Given the description of an element on the screen output the (x, y) to click on. 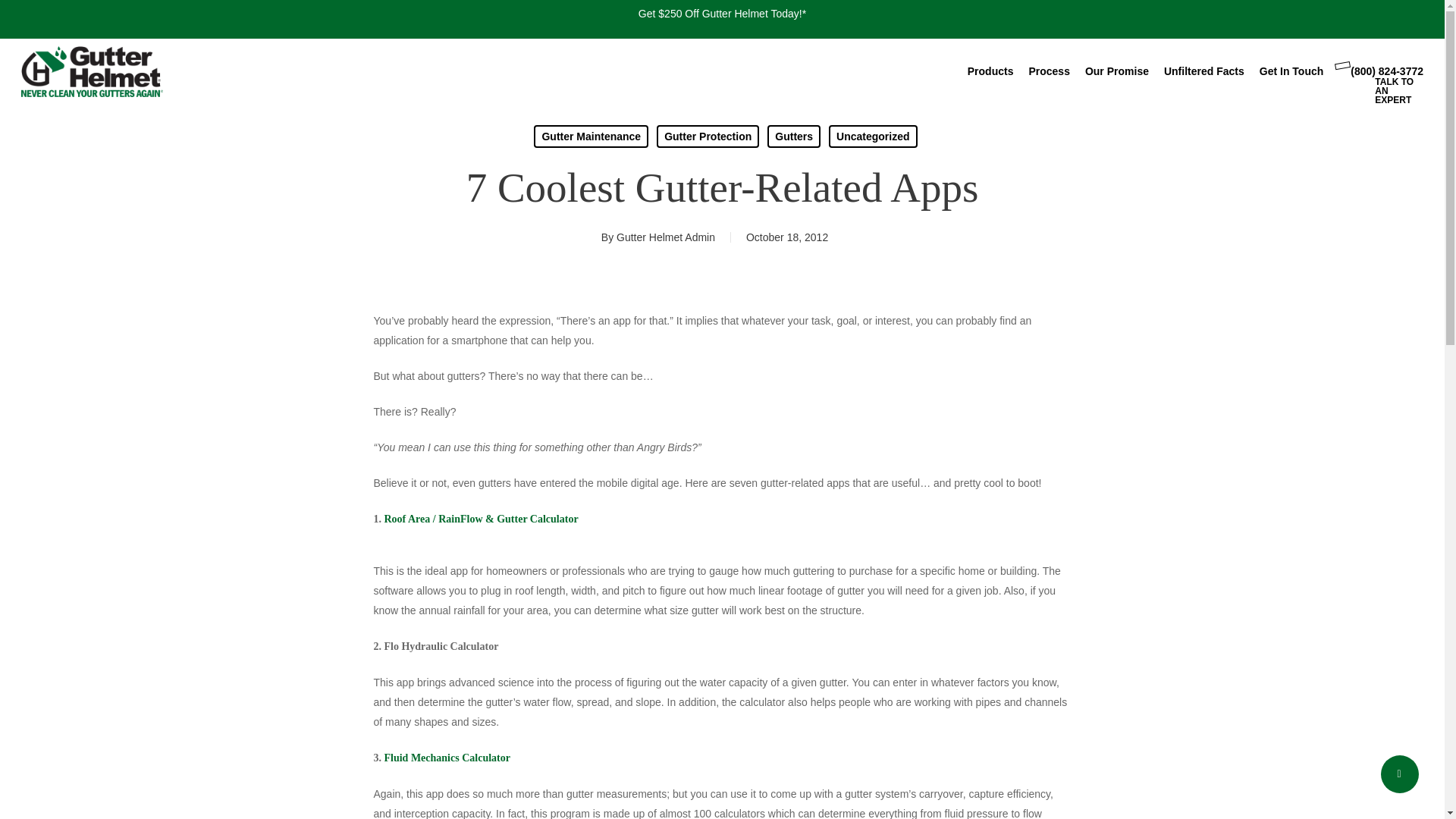
Get In Touch (1291, 70)
Gutter Maintenance (590, 136)
Posts by Gutter Helmet Admin (664, 236)
Gutter Helmet Admin (664, 236)
Unfiltered Facts (1203, 70)
Fluid Mechanics Calculator (446, 757)
Products (990, 70)
Gutter Protection (707, 136)
Uncategorized (872, 136)
Our Promise (1116, 70)
